Given the description of an element on the screen output the (x, y) to click on. 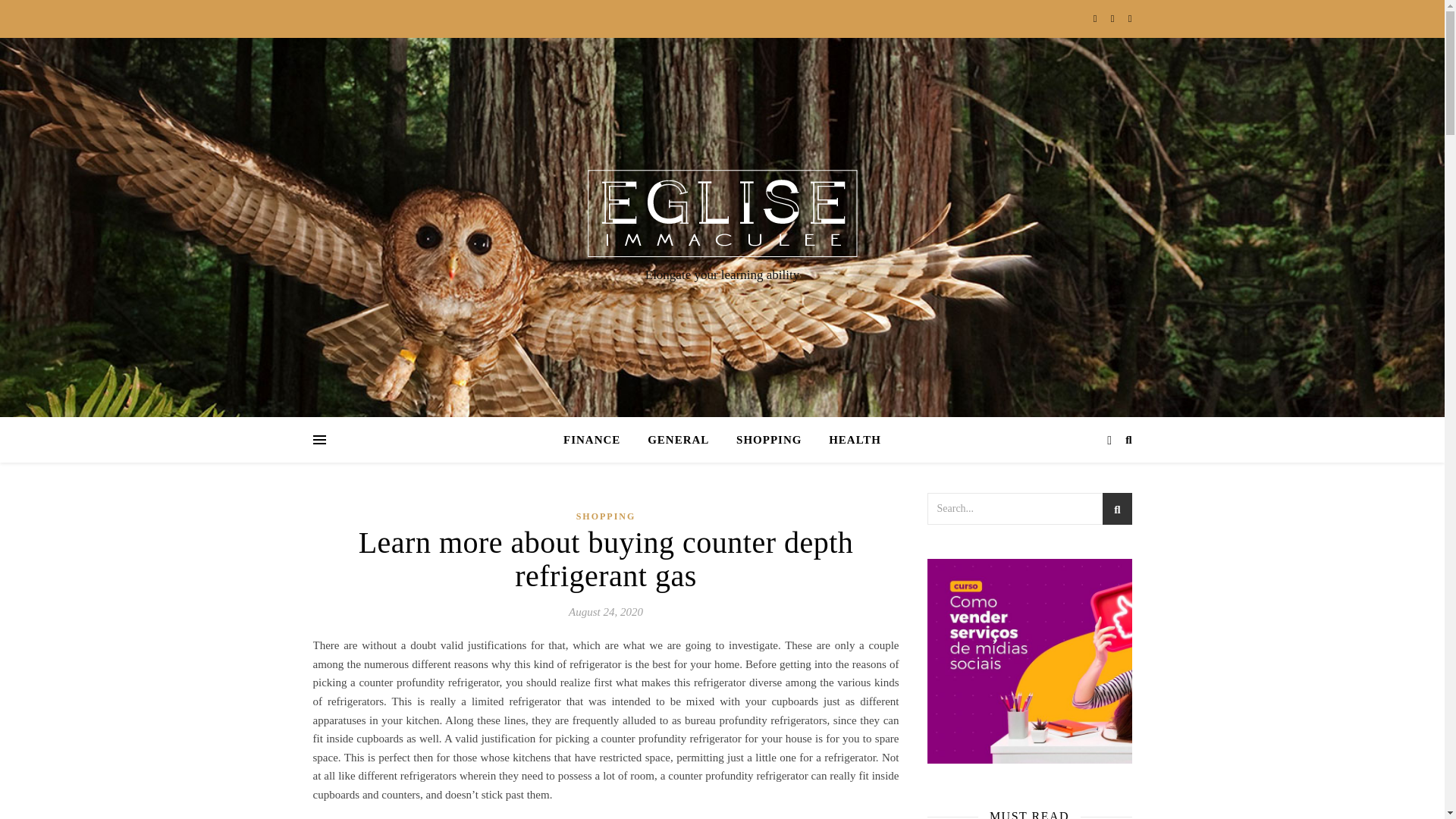
SHOPPING (768, 439)
GENERAL (677, 439)
HEALTH (848, 439)
FINANCE (597, 439)
Eglise Immaculee (721, 213)
